Given the description of an element on the screen output the (x, y) to click on. 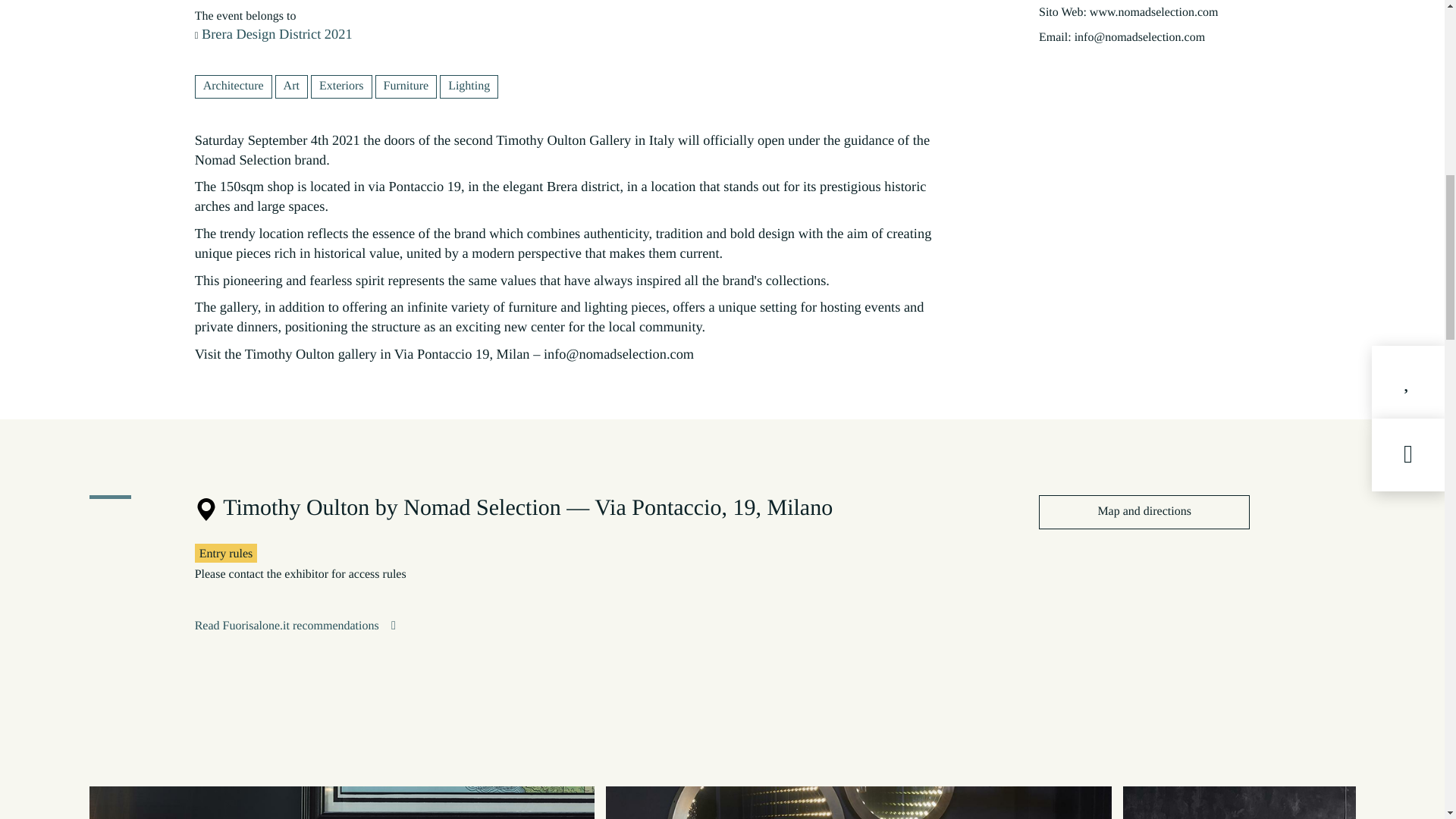
OK (943, 99)
OK (943, 99)
qui (902, 99)
